Given the description of an element on the screen output the (x, y) to click on. 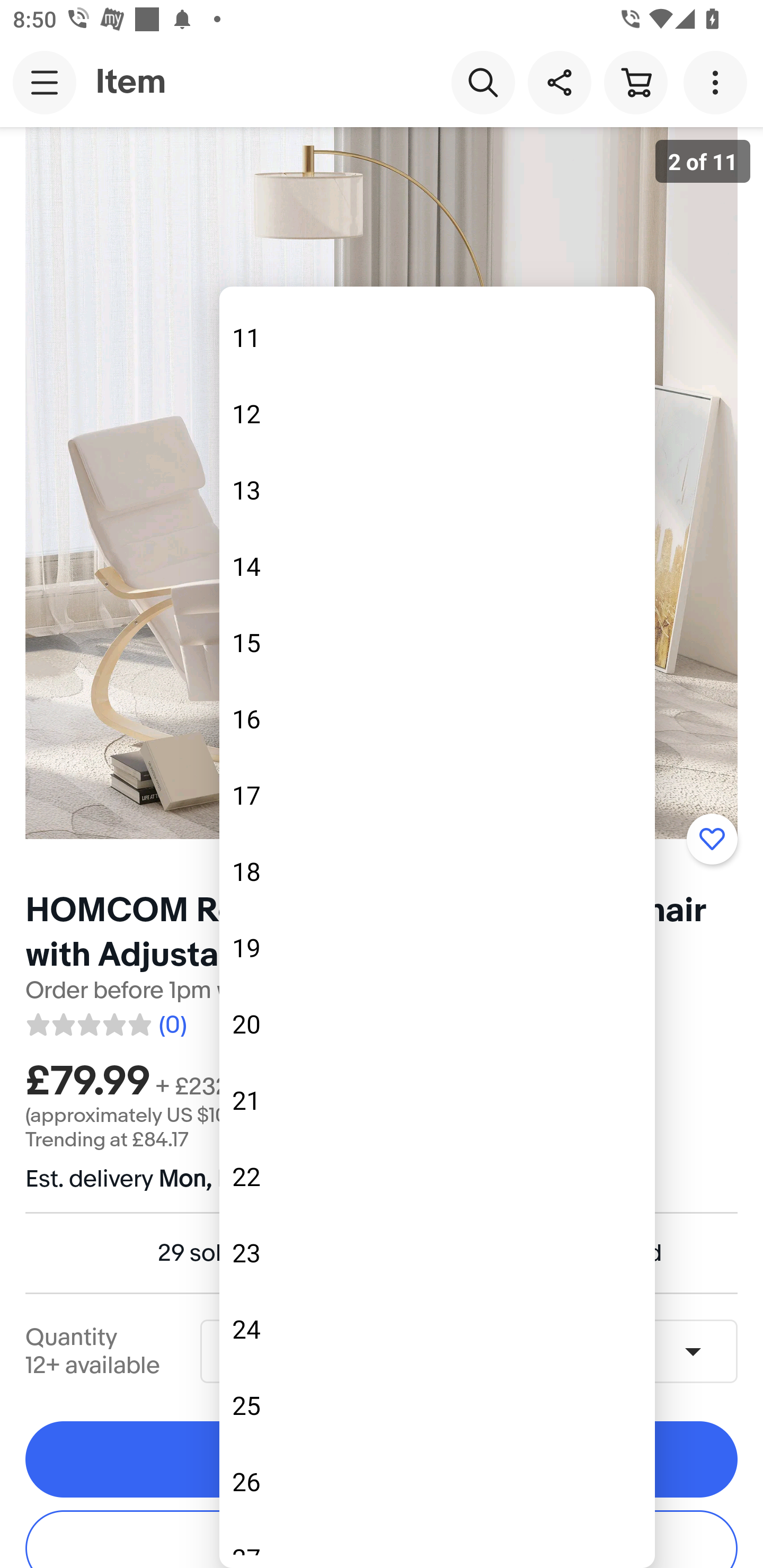
11 (436, 337)
12 (436, 413)
13 (436, 489)
14 (436, 565)
15 (436, 641)
16 (436, 718)
17 (436, 794)
18 (436, 870)
19 (436, 947)
20 (436, 1023)
21 (436, 1099)
22 (436, 1176)
23 (436, 1252)
24 (436, 1328)
25 (436, 1405)
26 (436, 1481)
